Given the description of an element on the screen output the (x, y) to click on. 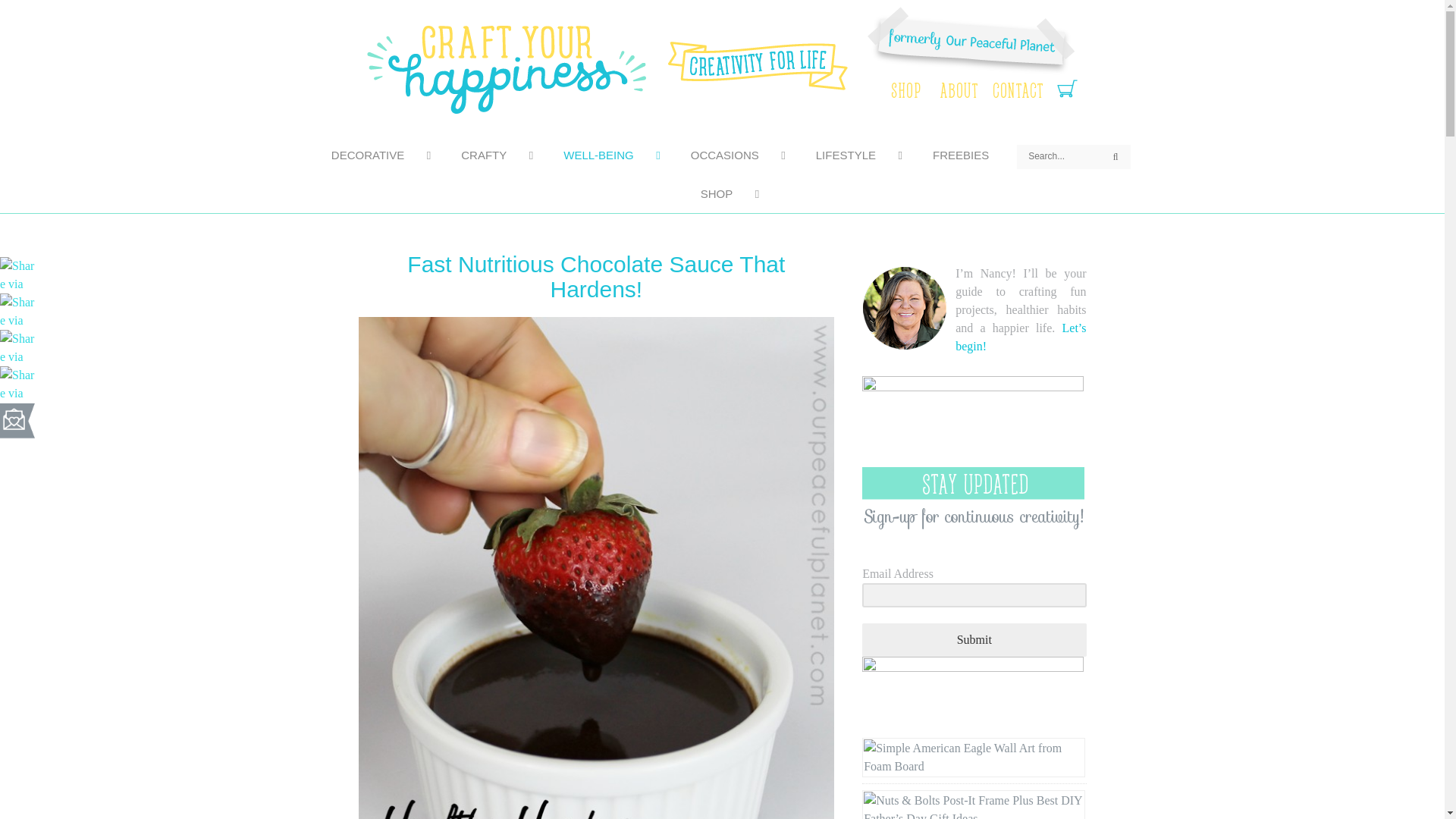
!DONATE (972, 420)
Share via Email (18, 419)
Share via Facebook (18, 309)
Share via Pinterest (18, 273)
Share via Google (18, 382)
Share via Twitter (18, 346)
CRAFTY (489, 154)
DECORATIVE (373, 154)
